Given the description of an element on the screen output the (x, y) to click on. 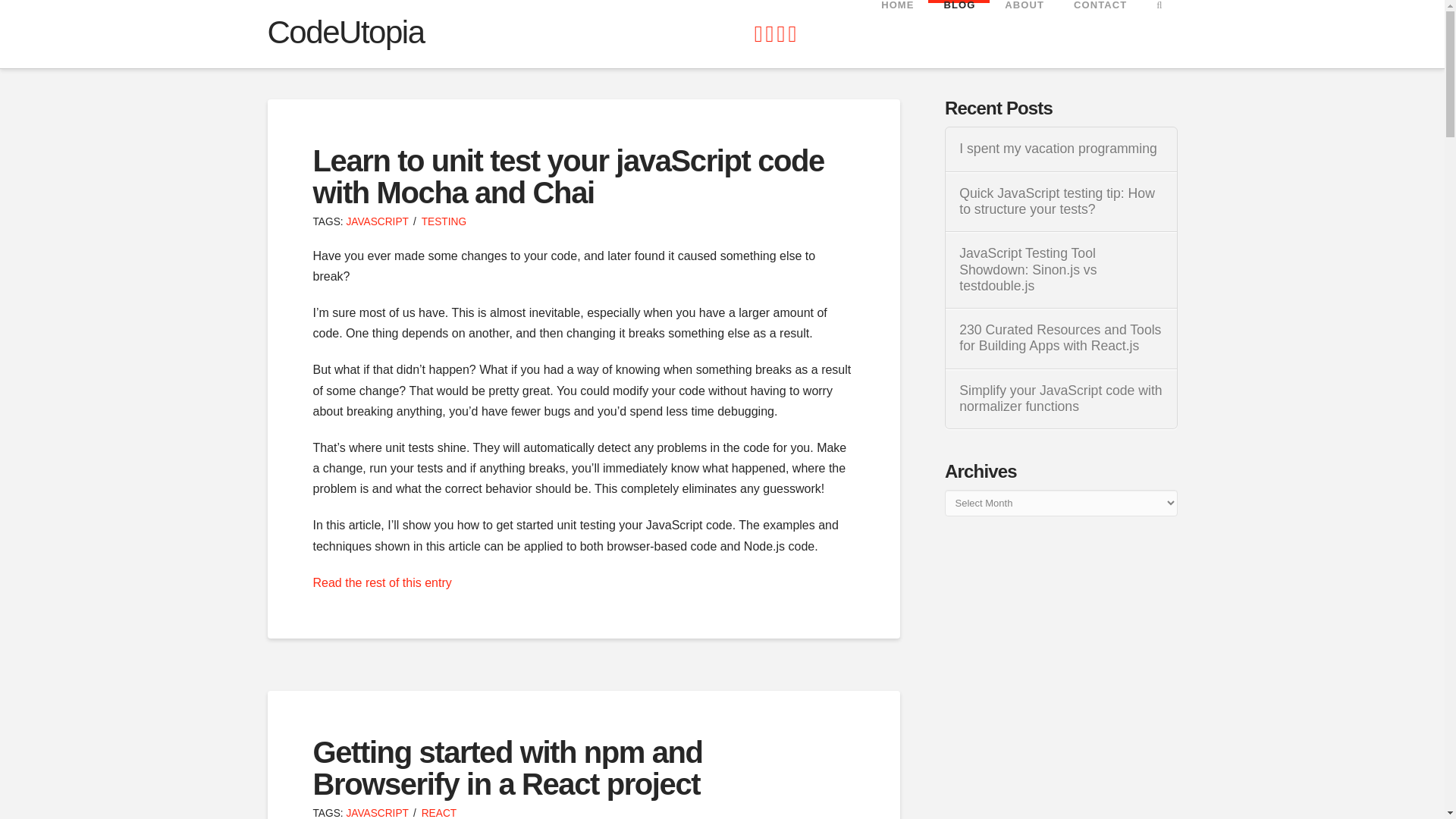
Read the rest of this entry (382, 582)
JavaScript development tips and tricks for the real world (344, 32)
Learn to unit test your javaScript code with Mocha and Chai (568, 176)
Getting started with npm and Browserify in a React project (507, 767)
ABOUT (1024, 33)
JAVASCRIPT (377, 813)
CodeUtopia (344, 32)
TESTING (443, 221)
BLOG (959, 33)
